Given the description of an element on the screen output the (x, y) to click on. 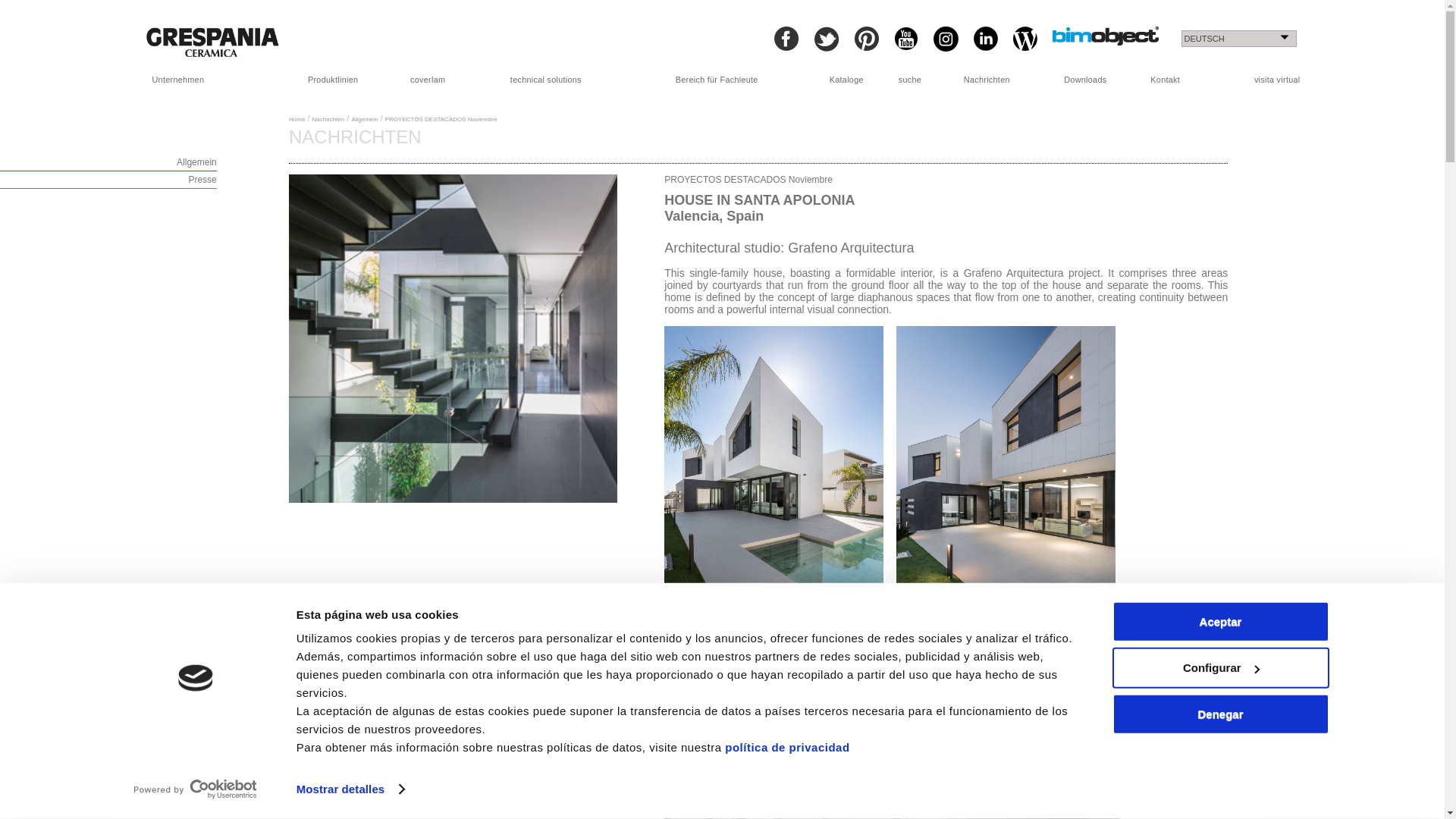
home (212, 40)
instagram (945, 38)
Mostrar detalles (350, 789)
bimobject (1105, 35)
youtube (905, 38)
linkedin (985, 38)
twitter (826, 38)
wordpress (1024, 38)
pinterest (865, 38)
